Given the description of an element on the screen output the (x, y) to click on. 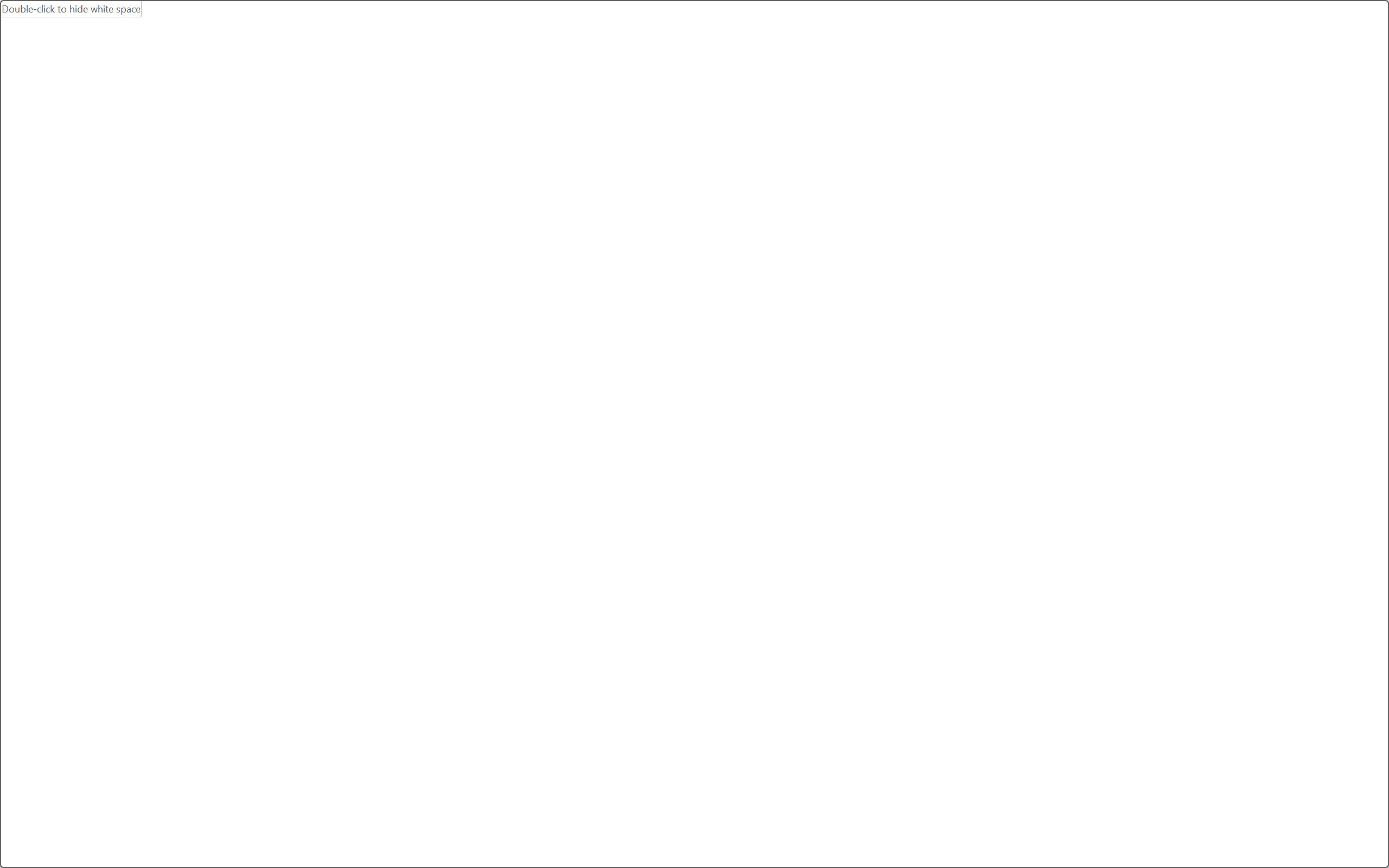
tectonic plates (865, 529)
Office Clipboard... (70, 136)
Copy (60, 97)
Row up (978, 81)
Format Painter (60, 118)
Subscript (190, 108)
planet (698, 416)
Styles... (986, 136)
Repeat Paste Option (184, 19)
Replace... (1029, 97)
